Given the description of an element on the screen output the (x, y) to click on. 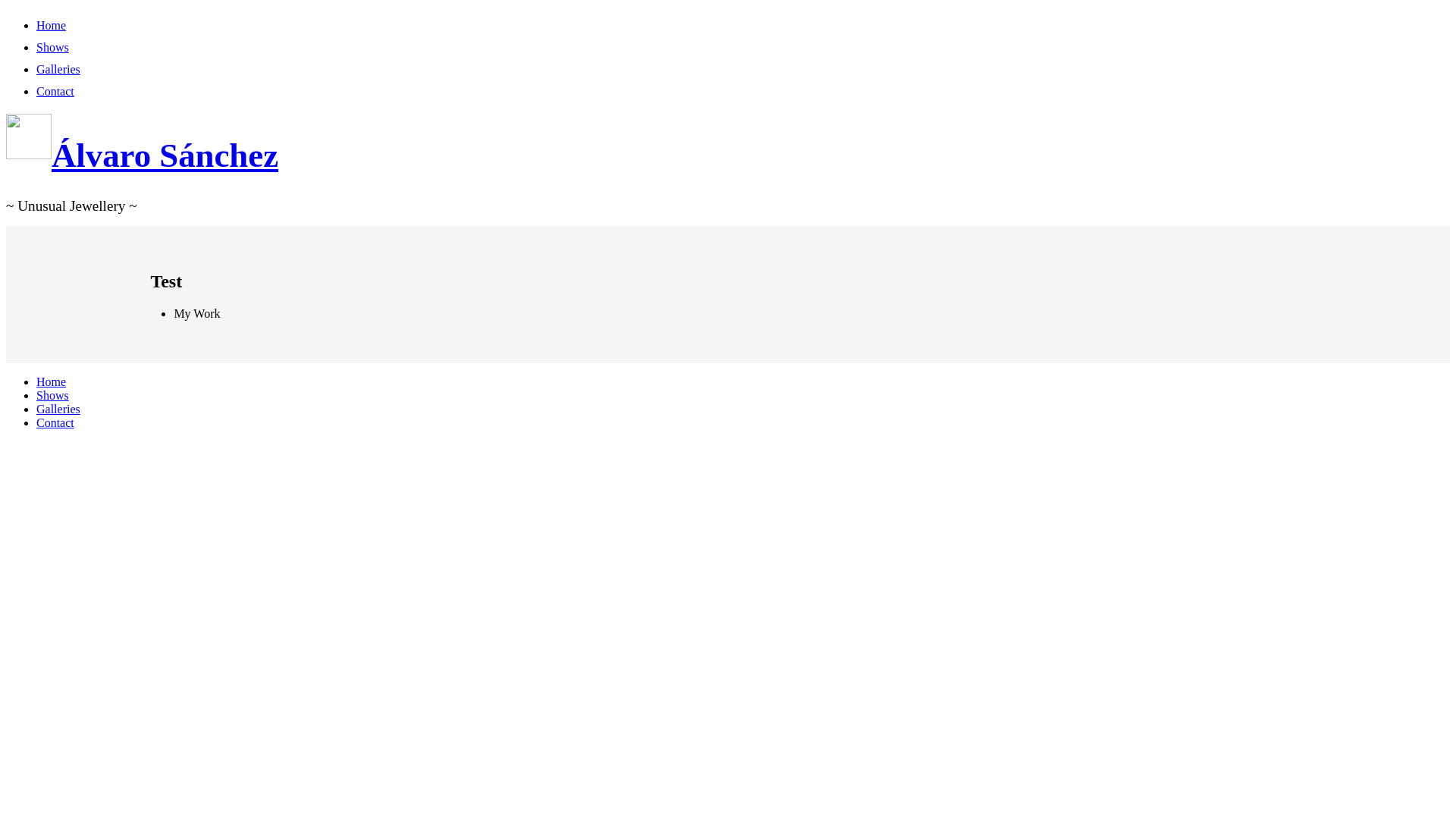
Home Element type: text (50, 24)
Contact Element type: text (55, 90)
Home Element type: text (50, 381)
Galleries Element type: text (58, 68)
Contact Element type: text (55, 422)
Galleries Element type: text (58, 408)
Shows Element type: text (52, 46)
Shows Element type: text (52, 395)
